Given the description of an element on the screen output the (x, y) to click on. 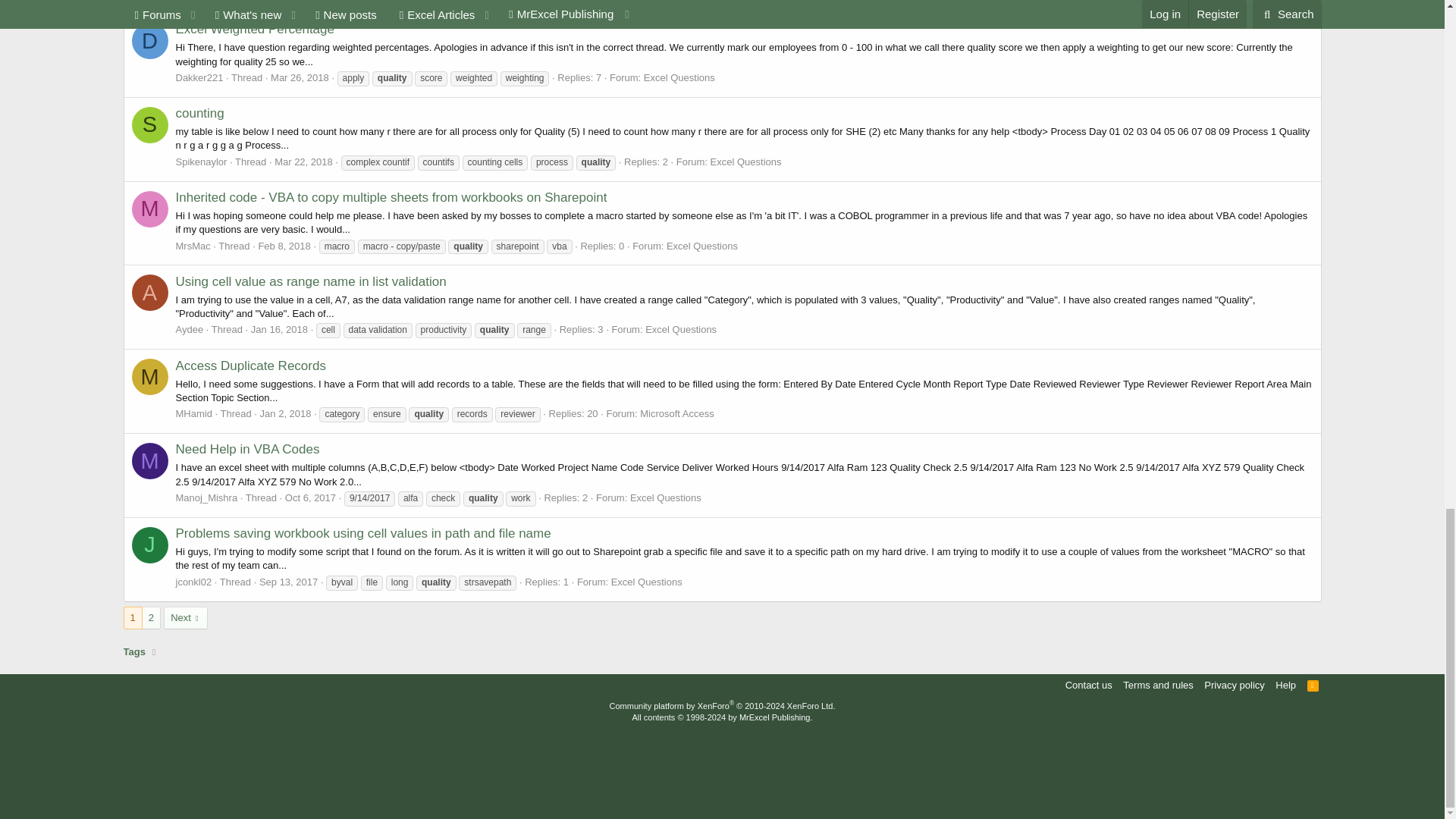
Mar 26, 2018 at 10:50 AM (299, 77)
Jan 16, 2018 at 9:32 AM (278, 328)
Feb 8, 2018 at 6:04 AM (283, 245)
Mar 22, 2018 at 7:58 AM (304, 161)
Jan 2, 2018 at 11:22 AM (285, 413)
